Given the description of an element on the screen output the (x, y) to click on. 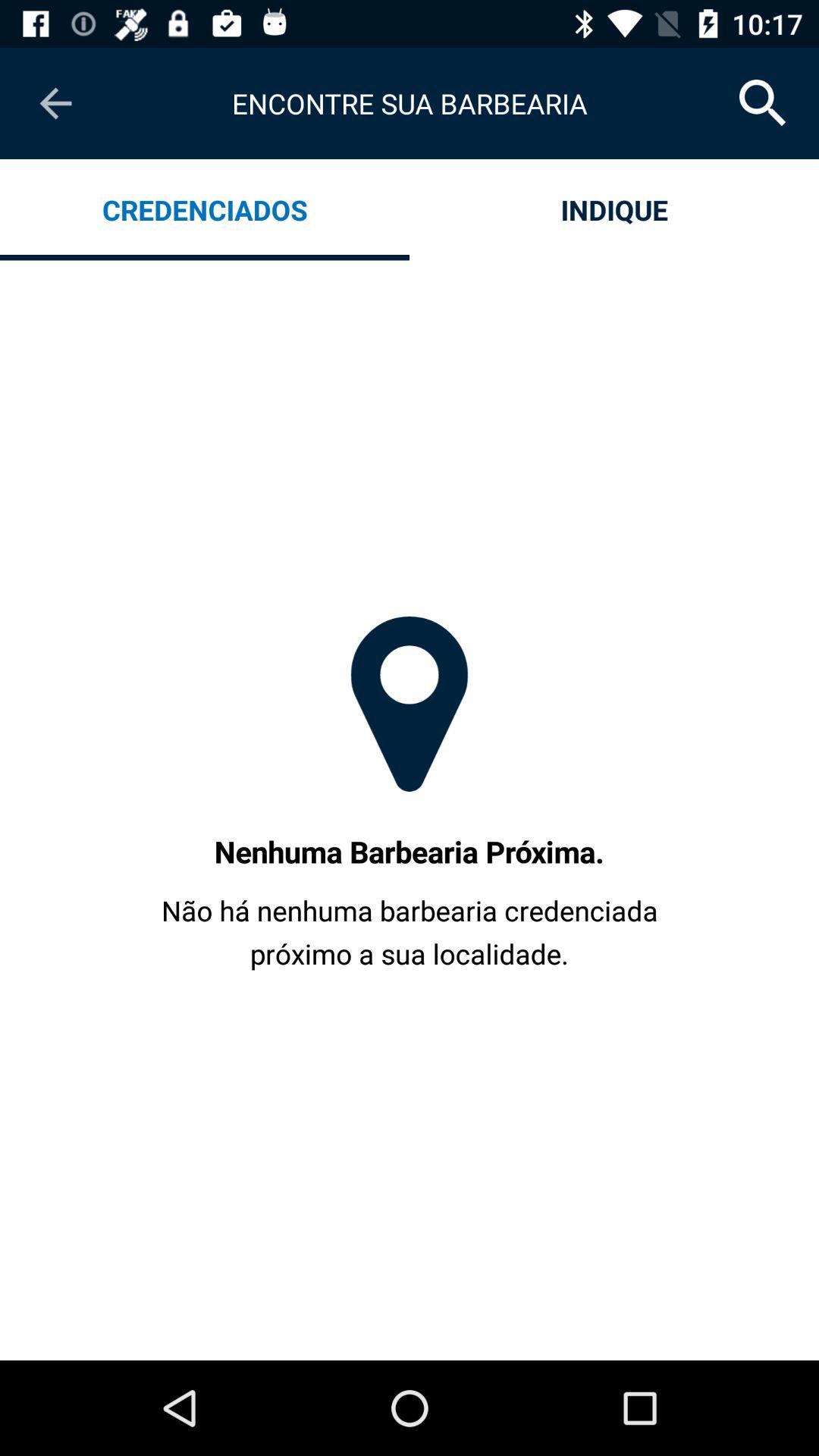
open item next to the indique icon (204, 209)
